Given the description of an element on the screen output the (x, y) to click on. 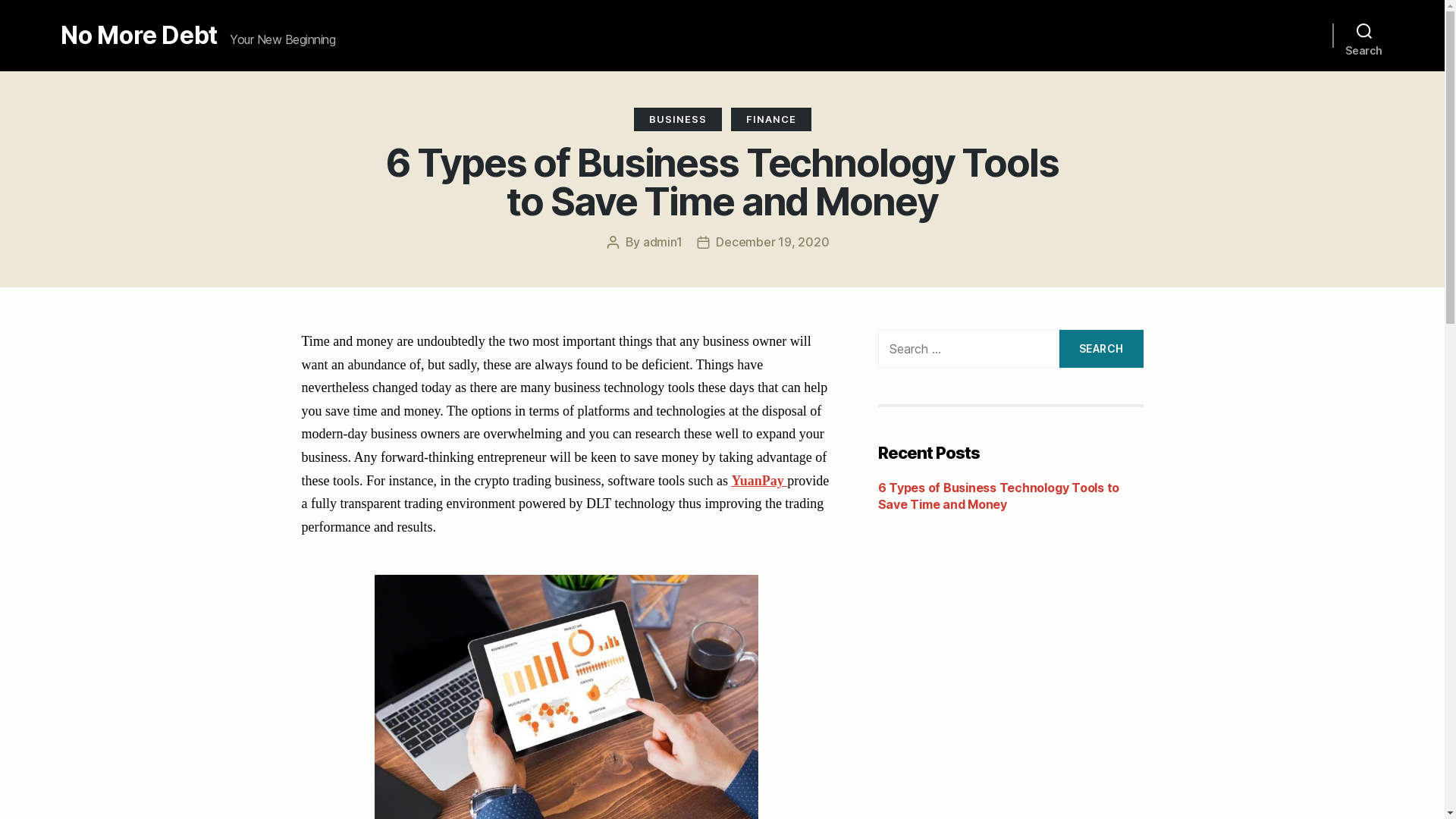
Search Element type: text (1101, 348)
YuanPay Element type: text (759, 480)
No More Debt Element type: text (138, 35)
Search Element type: text (1364, 35)
December 19, 2020 Element type: text (771, 241)
admin1 Element type: text (662, 241)
FINANCE Element type: text (771, 118)
BUSINESS Element type: text (677, 118)
6 Types of Business Technology Tools to Save Time and Money Element type: text (999, 495)
